Given the description of an element on the screen output the (x, y) to click on. 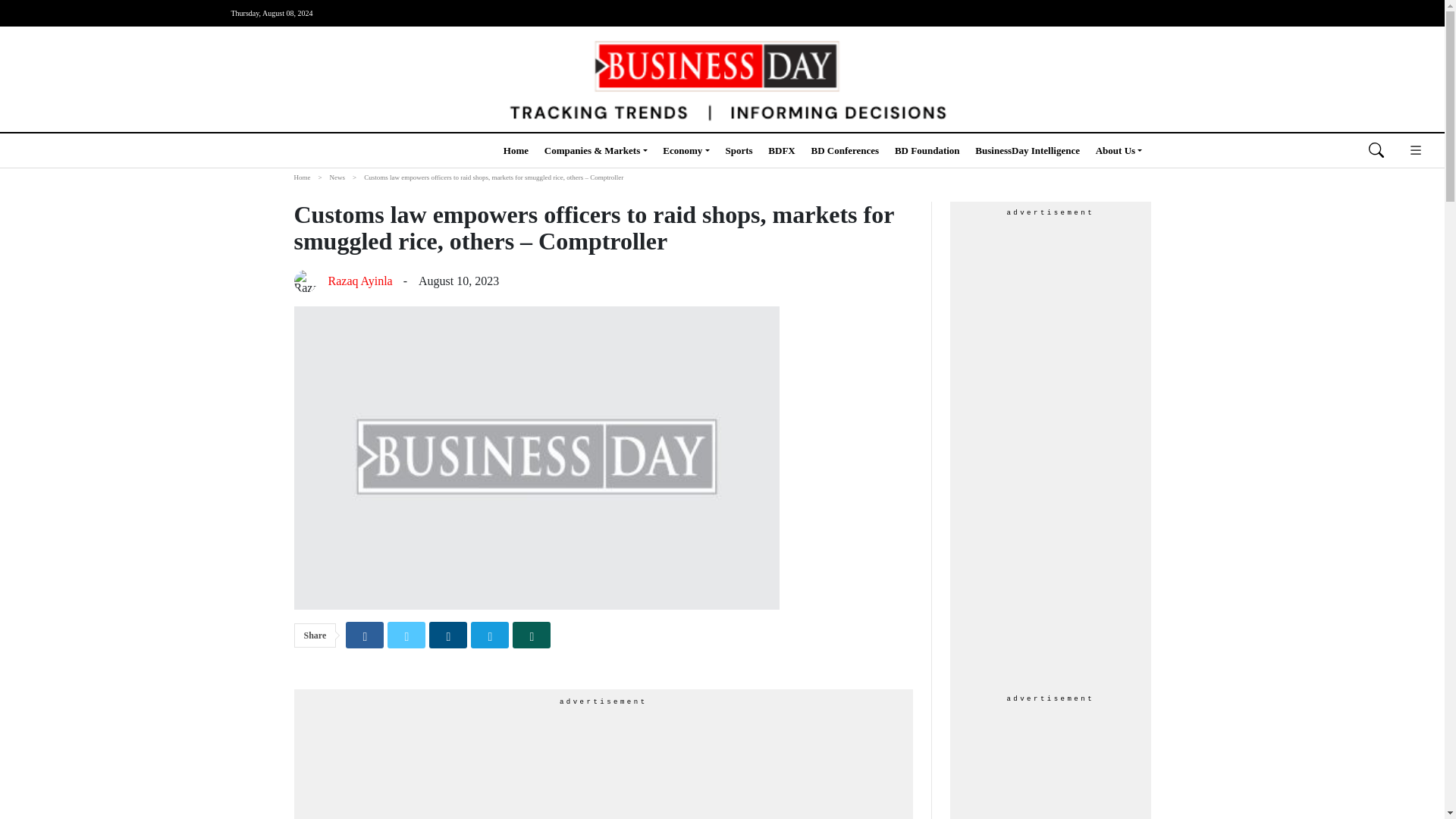
Economy (685, 149)
About Us (1119, 149)
BD Foundation (927, 149)
BD Conferences (844, 149)
BusinessDay Intelligence (1027, 149)
BusinessDay Intelligence (1027, 149)
Economy (685, 149)
About Us (1119, 149)
BD Conferences (844, 149)
BD Foundation (927, 149)
